Given the description of an element on the screen output the (x, y) to click on. 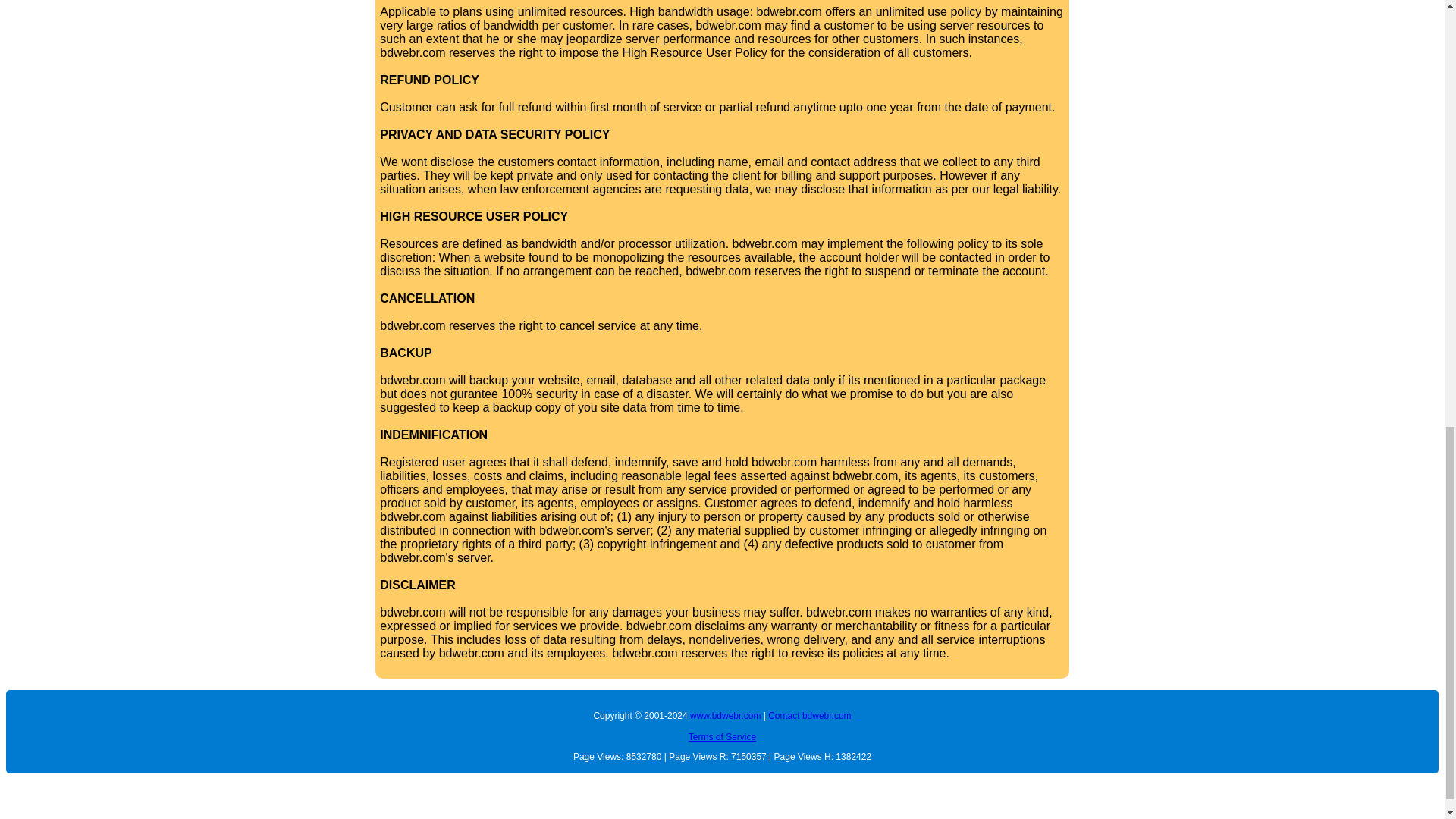
Terms of Service (721, 737)
www.bdwebr.com (725, 715)
Contact bdwebr.com (809, 715)
